Given the description of an element on the screen output the (x, y) to click on. 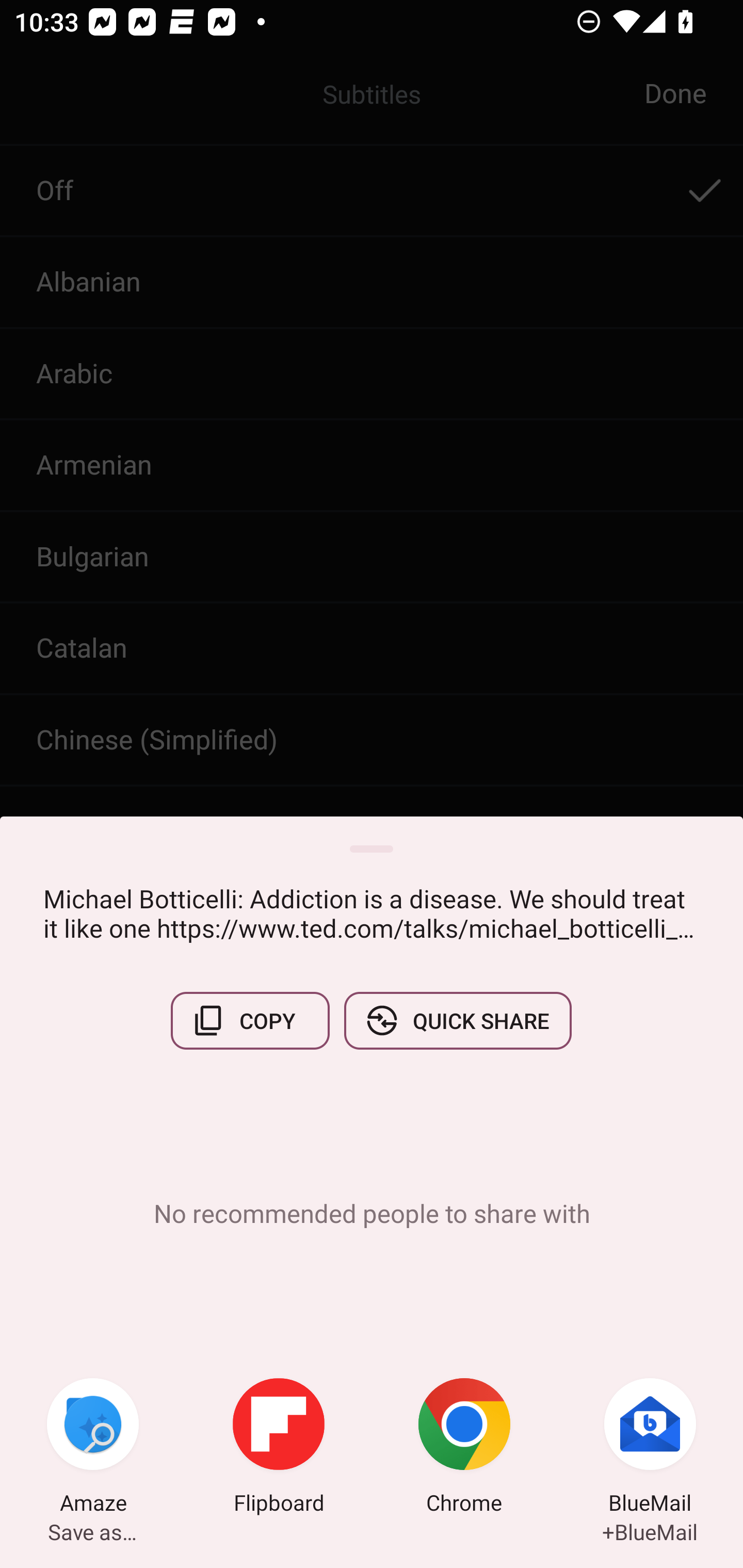
COPY (249, 1020)
QUICK SHARE (457, 1020)
Amaze Save as… (92, 1448)
Flipboard (278, 1448)
Chrome (464, 1448)
BlueMail +BlueMail (650, 1448)
